Given the description of an element on the screen output the (x, y) to click on. 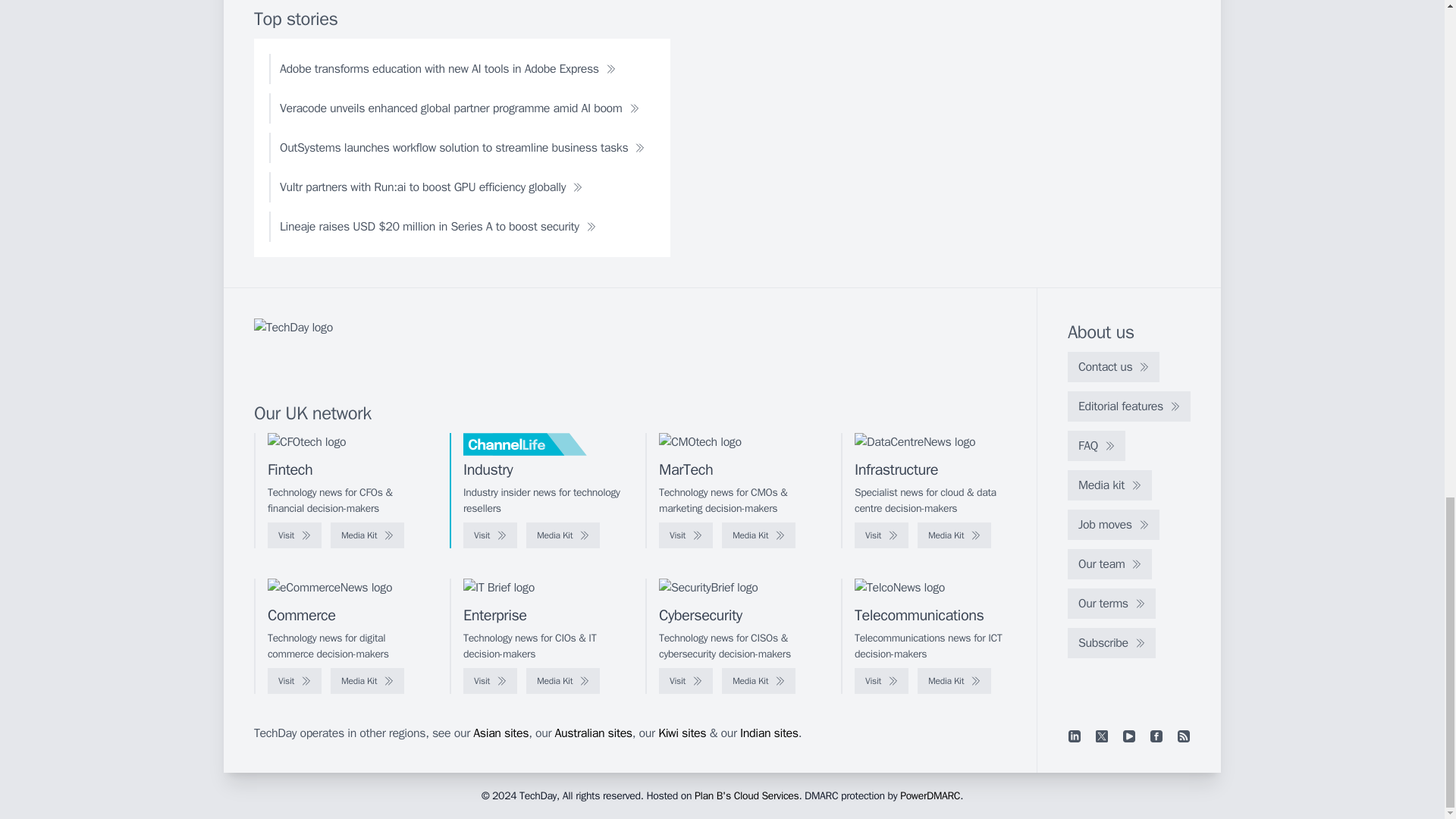
Vultr partners with Run:ai to boost GPU efficiency globally (430, 186)
Visit (294, 534)
Visit (686, 534)
Media Kit (758, 534)
Media Kit (562, 534)
Visit (489, 534)
Visit (881, 534)
